Given the description of an element on the screen output the (x, y) to click on. 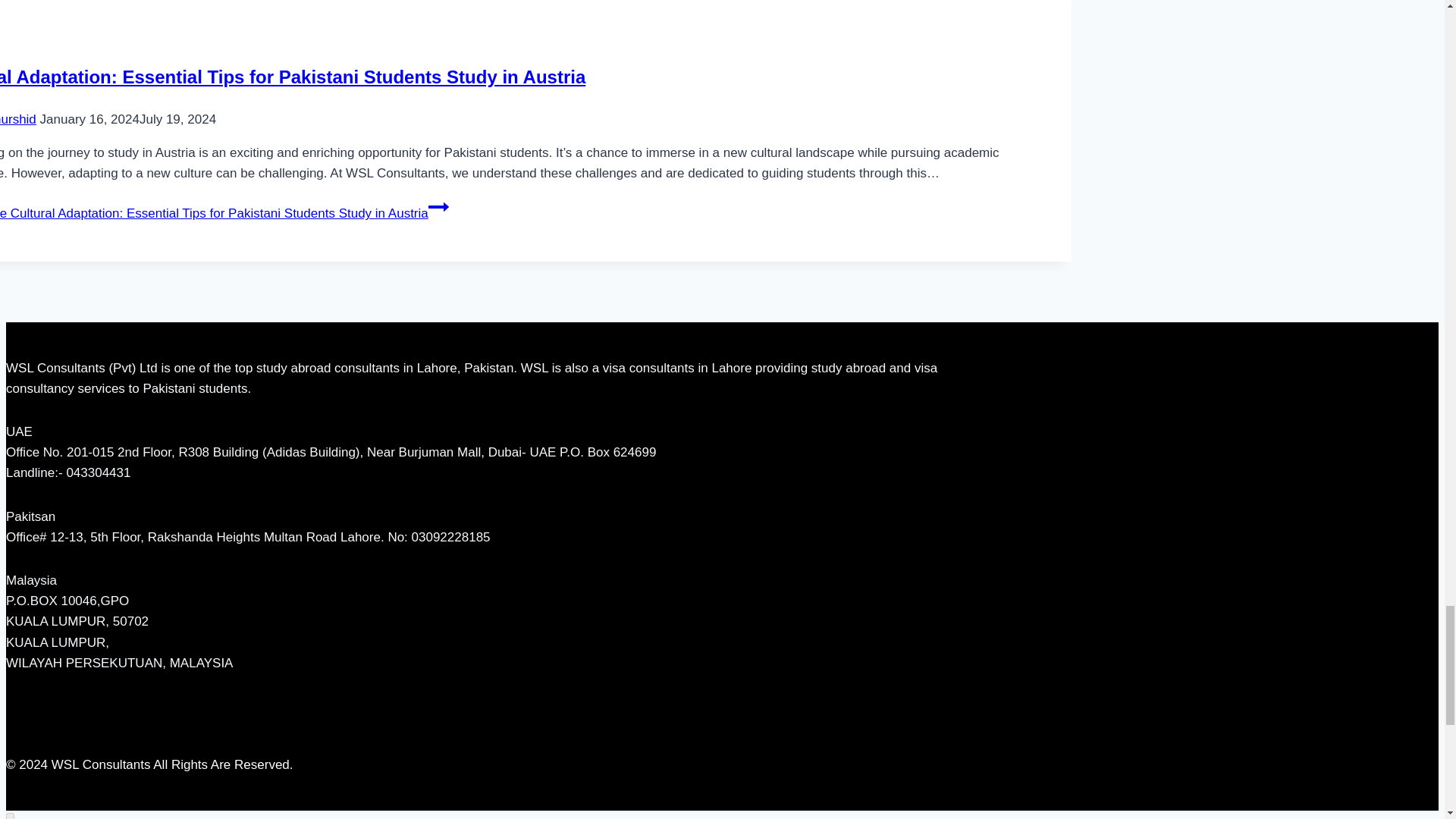
Continue (438, 206)
